Given the description of an element on the screen output the (x, y) to click on. 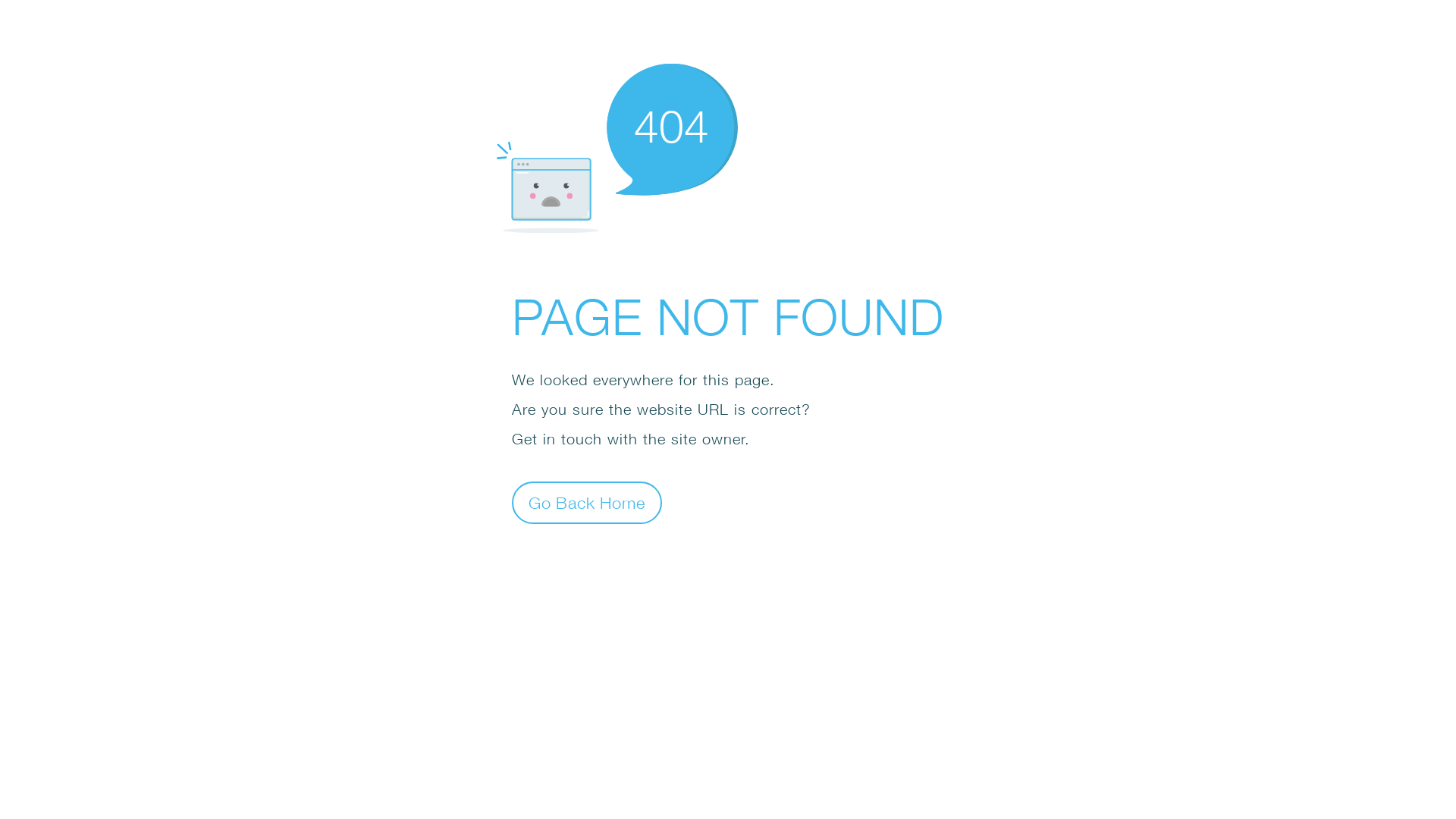
Go Back Home Element type: text (586, 502)
